Given the description of an element on the screen output the (x, y) to click on. 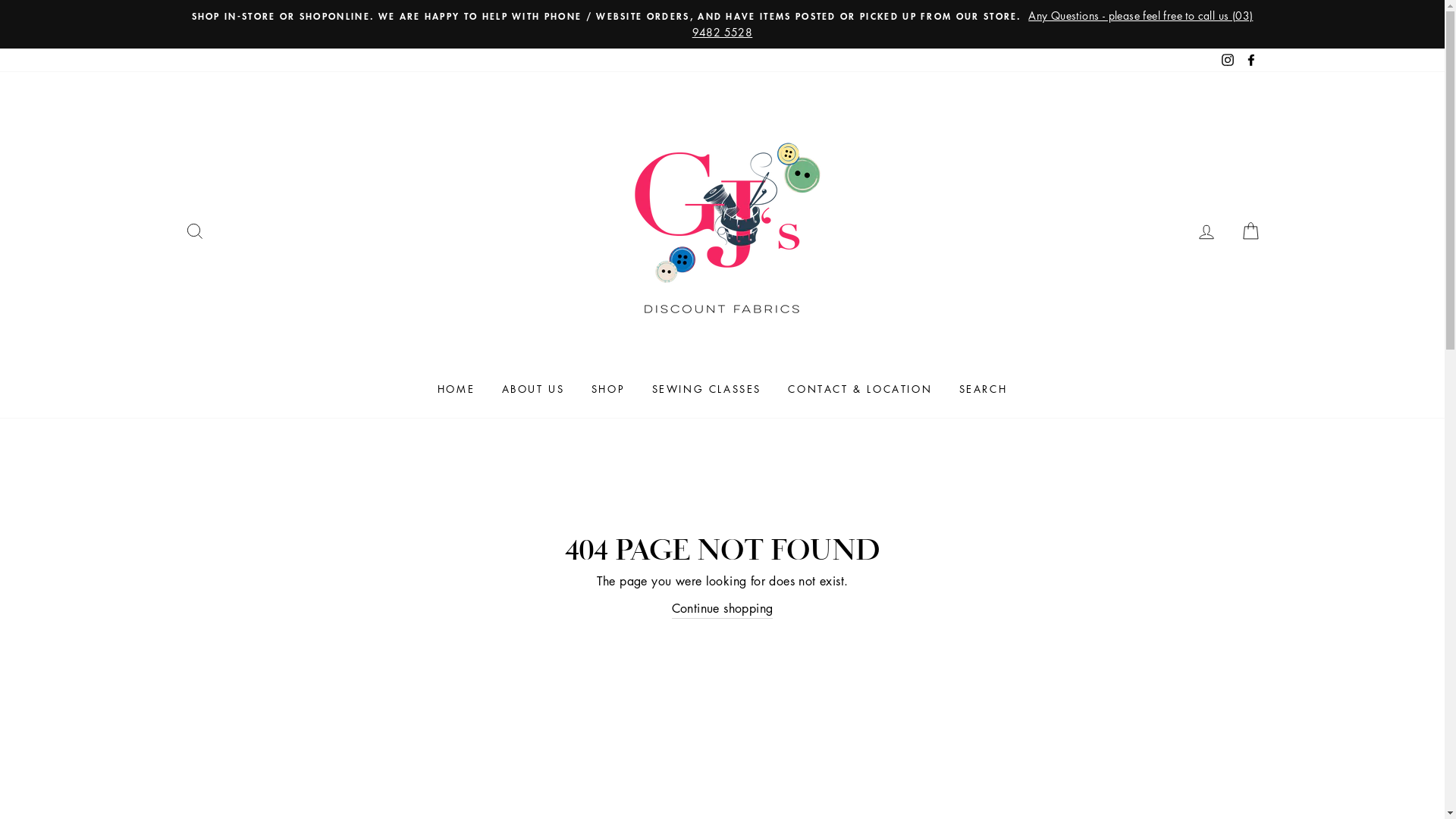
Instagram Element type: text (1227, 60)
SEWING CLASSES Element type: text (706, 388)
Continue shopping Element type: text (722, 609)
Facebook Element type: text (1250, 60)
ABOUT US Element type: text (533, 388)
SEARCH Element type: text (983, 388)
CONTACT & LOCATION Element type: text (859, 388)
Skip to content Element type: text (0, 0)
HOME Element type: text (456, 388)
CART Element type: text (1249, 231)
LOG IN Element type: text (1206, 231)
SHOP Element type: text (608, 388)
SEARCH Element type: text (193, 231)
